Given the description of an element on the screen output the (x, y) to click on. 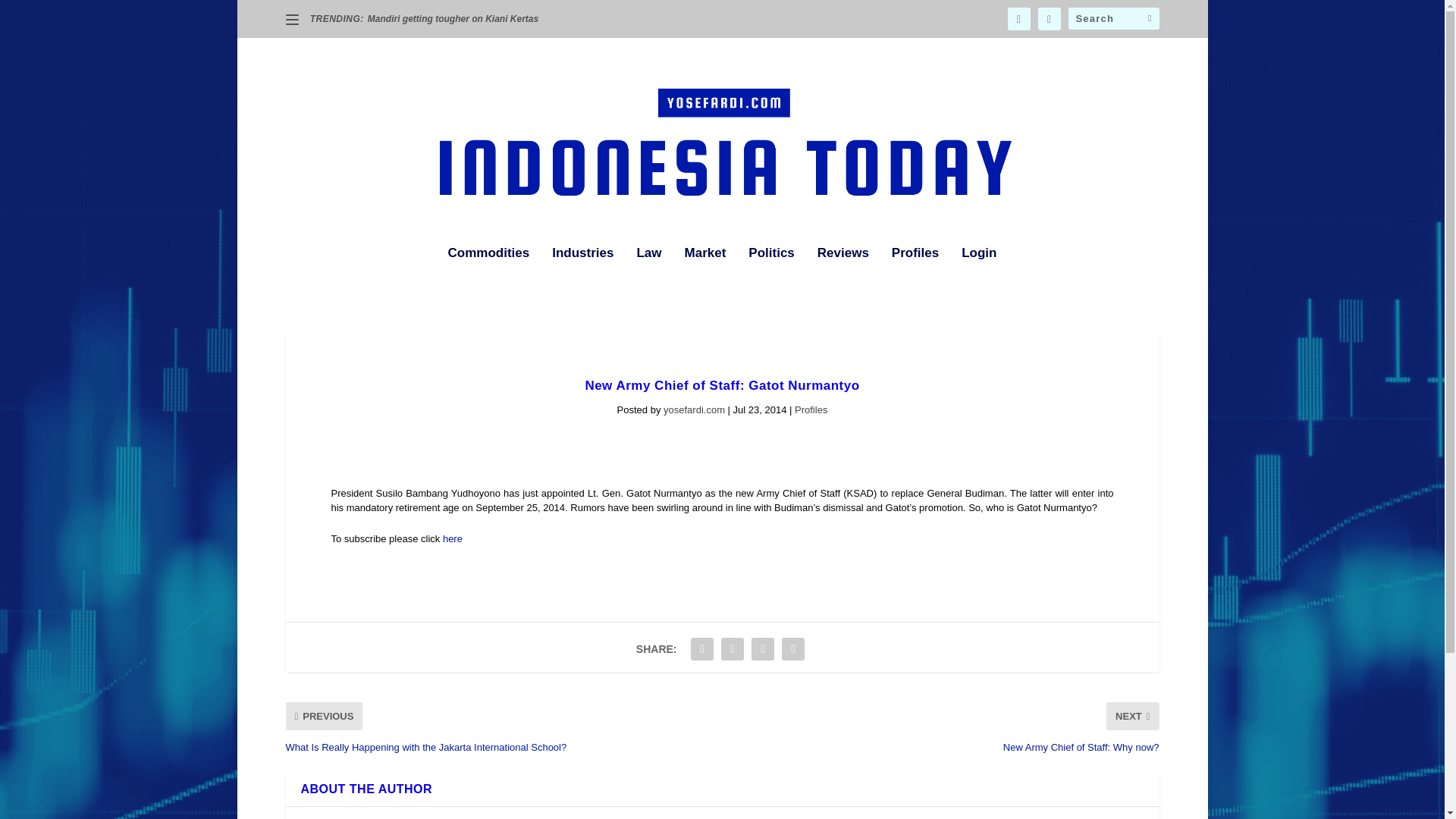
Reviews (842, 273)
Share "New Army Chief of Staff: Gatot Nurmantyo" via Twitter (732, 648)
Industries (581, 273)
Posts by yosefardi.com (694, 409)
Mandiri getting tougher on Kiani Kertas (453, 18)
Commodities (488, 273)
